Given the description of an element on the screen output the (x, y) to click on. 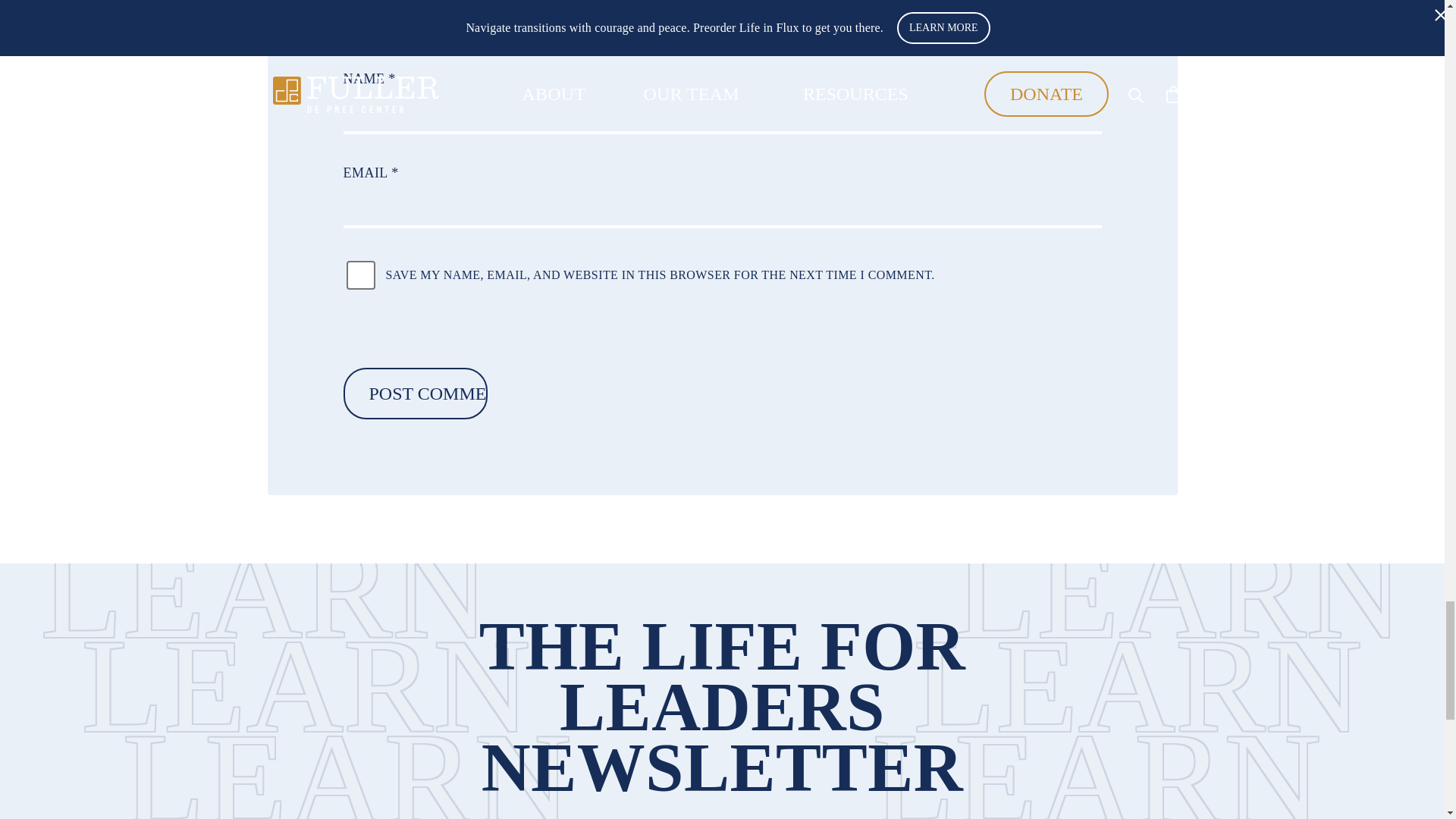
yes (360, 275)
Post Comment (414, 393)
